Given the description of an element on the screen output the (x, y) to click on. 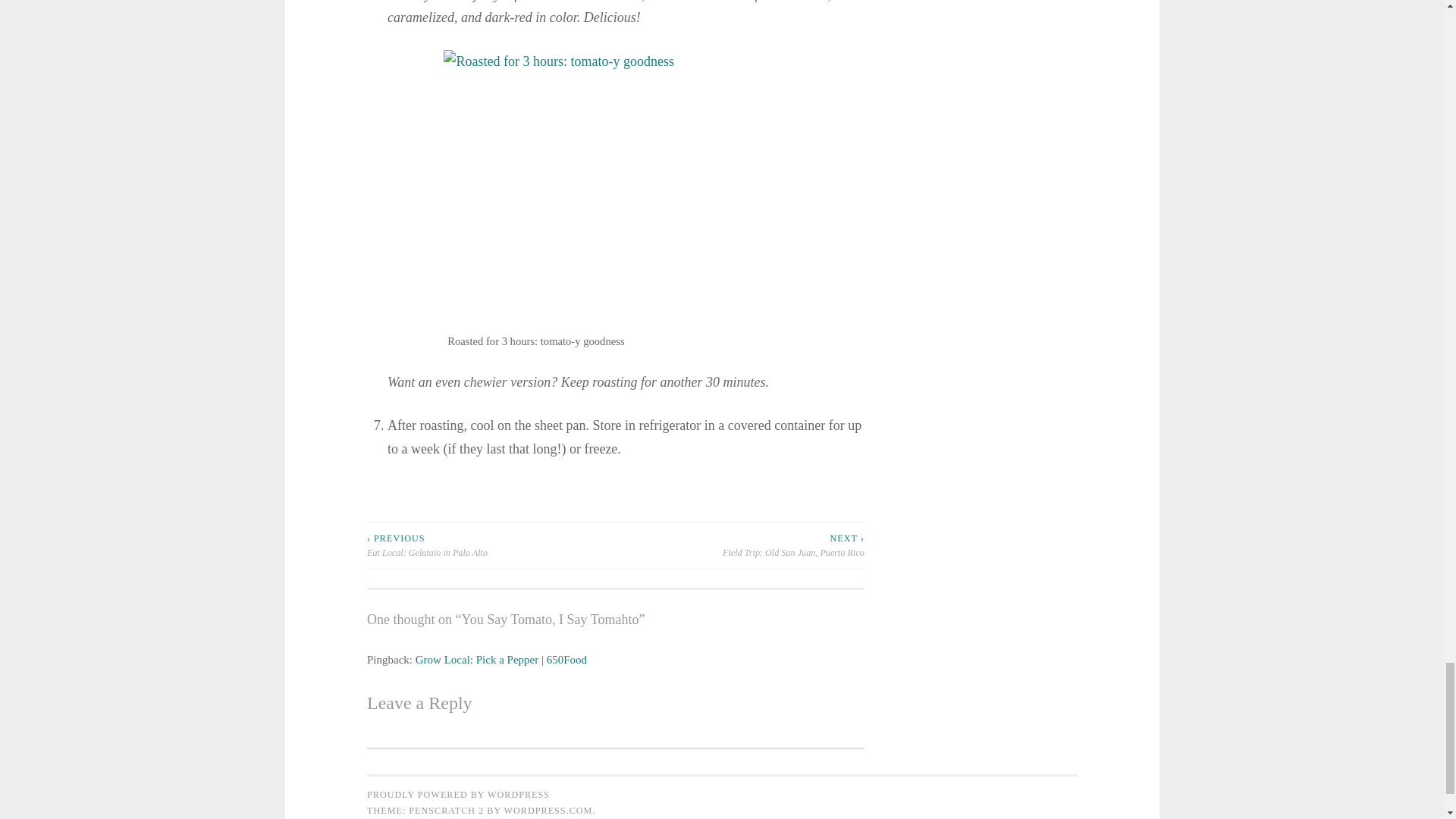
GARDEN HARVEST (392, 501)
